Given the description of an element on the screen output the (x, y) to click on. 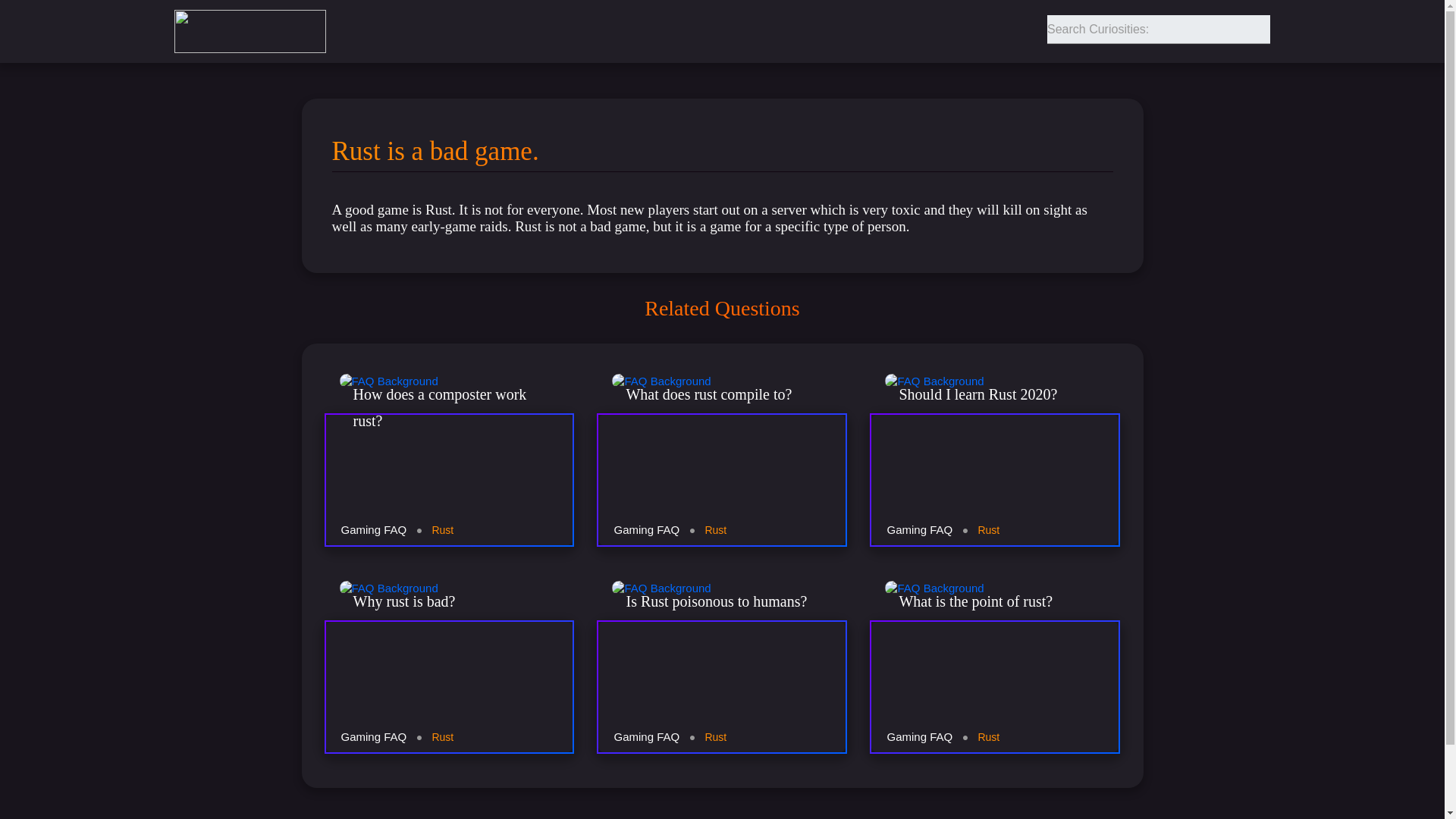
Rust (987, 736)
Rust (441, 736)
Rust (715, 529)
Rust (441, 529)
Should I learn Rust 2020? (994, 434)
What does rust compile to? (721, 434)
Why rust is bad? (449, 642)
What is the point of rust? (994, 642)
Is Rust poisonous to humans? (721, 642)
Rust (987, 529)
